Given the description of an element on the screen output the (x, y) to click on. 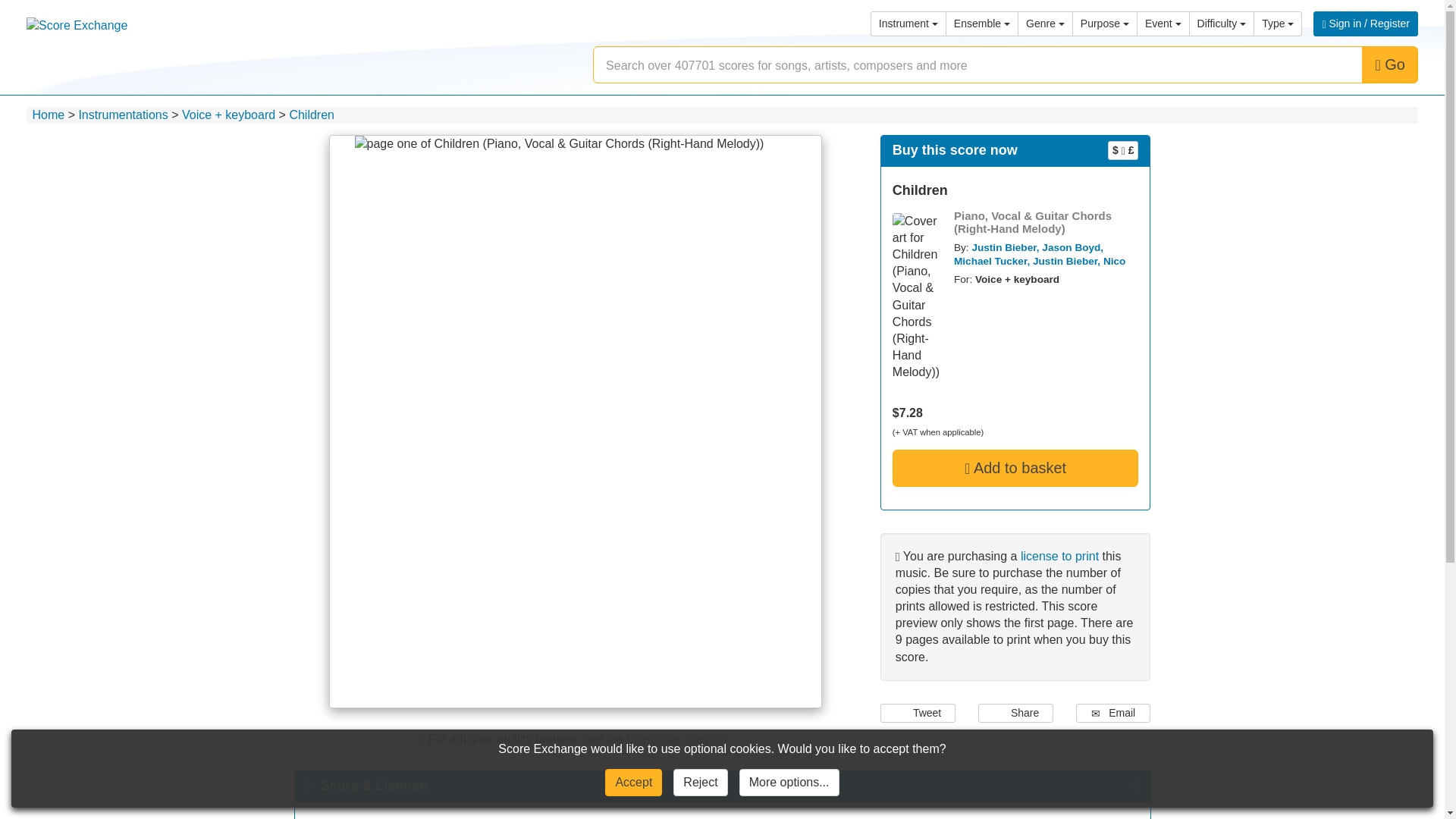
Twitter icon (900, 712)
Instrument (908, 23)
Facebook icon (998, 712)
